Given the description of an element on the screen output the (x, y) to click on. 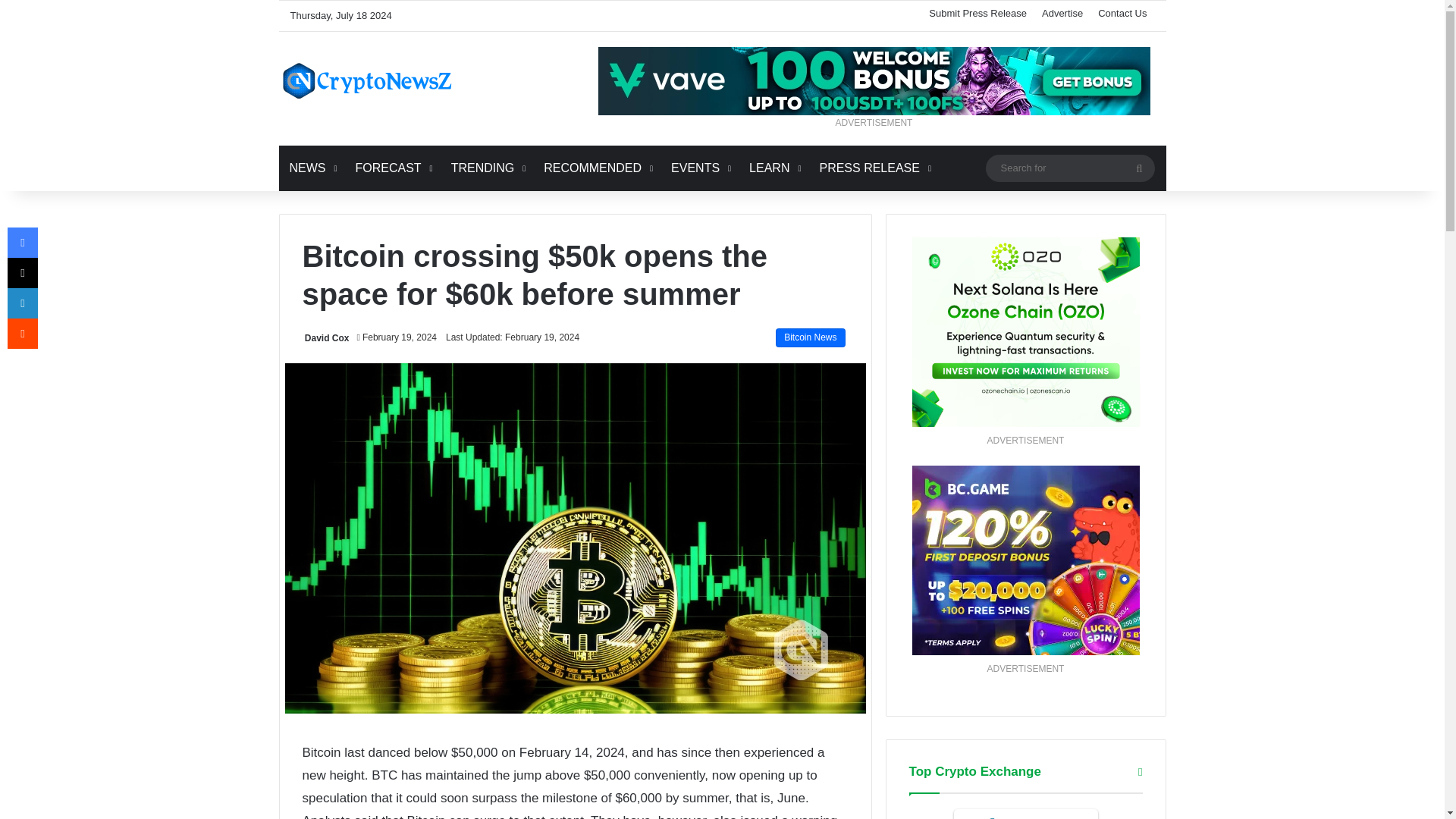
Search for (1069, 167)
Bitget (1025, 814)
BC.Game (1024, 560)
Advertise (1061, 13)
Contact Us (1122, 13)
Submit Press Release (977, 13)
CryptoNewsZ (367, 80)
TRENDING (487, 167)
FORECAST (391, 167)
Posts by David Cox (326, 337)
OZO (1024, 331)
NEWS (312, 167)
